Given the description of an element on the screen output the (x, y) to click on. 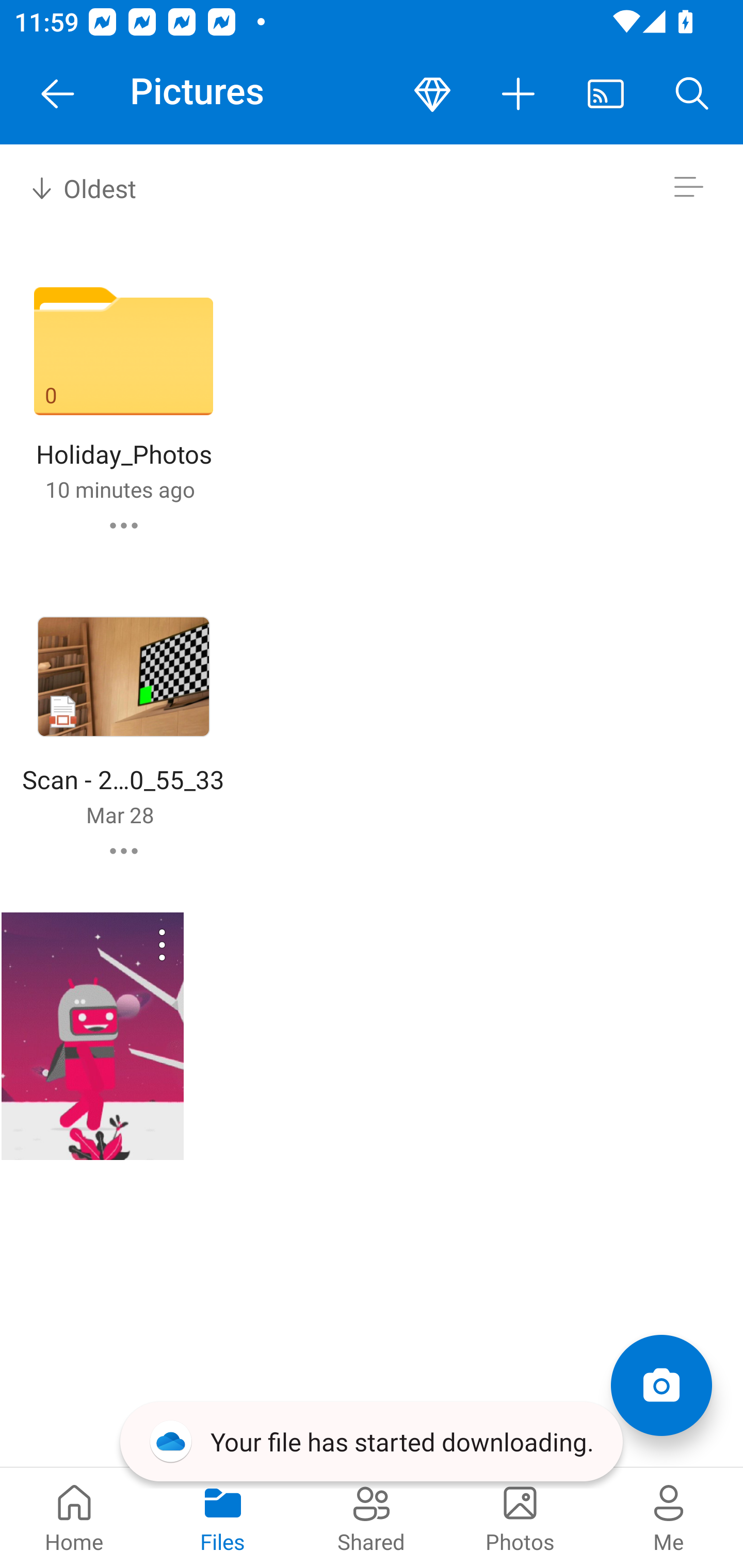
Navigate Up (57, 93)
Cast. Disconnected (605, 93)
Premium button (432, 93)
More actions button (518, 93)
Search button (692, 93)
Oldest Sort by combo box, sort by oldest (80, 187)
Switch to list view (688, 187)
10 minutes ago (119, 489)
Holiday_Photos commands (123, 525)
Mar 28 (120, 814)
Scan - 2024-03-28 10_55_33 commands (123, 851)
Document Test_IMG Test_IMG commands (92, 1036)
Test_IMG commands (136, 944)
Add items Scan (660, 1385)
Home pivot Home (74, 1517)
Shared pivot Shared (371, 1517)
Photos pivot Photos (519, 1517)
Me pivot Me (668, 1517)
